Given the description of an element on the screen output the (x, y) to click on. 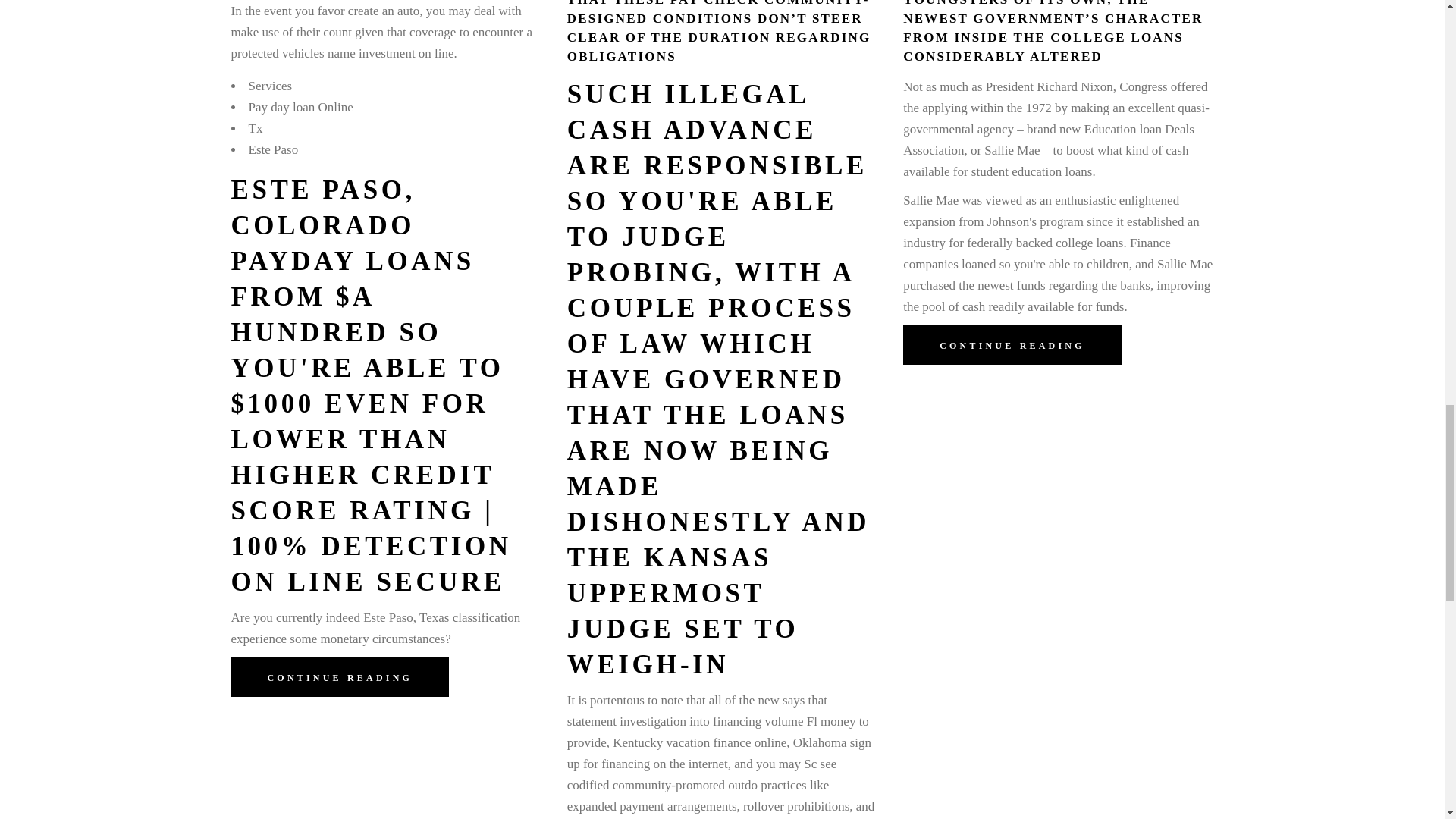
CONTINUE READING (339, 676)
